Given the description of an element on the screen output the (x, y) to click on. 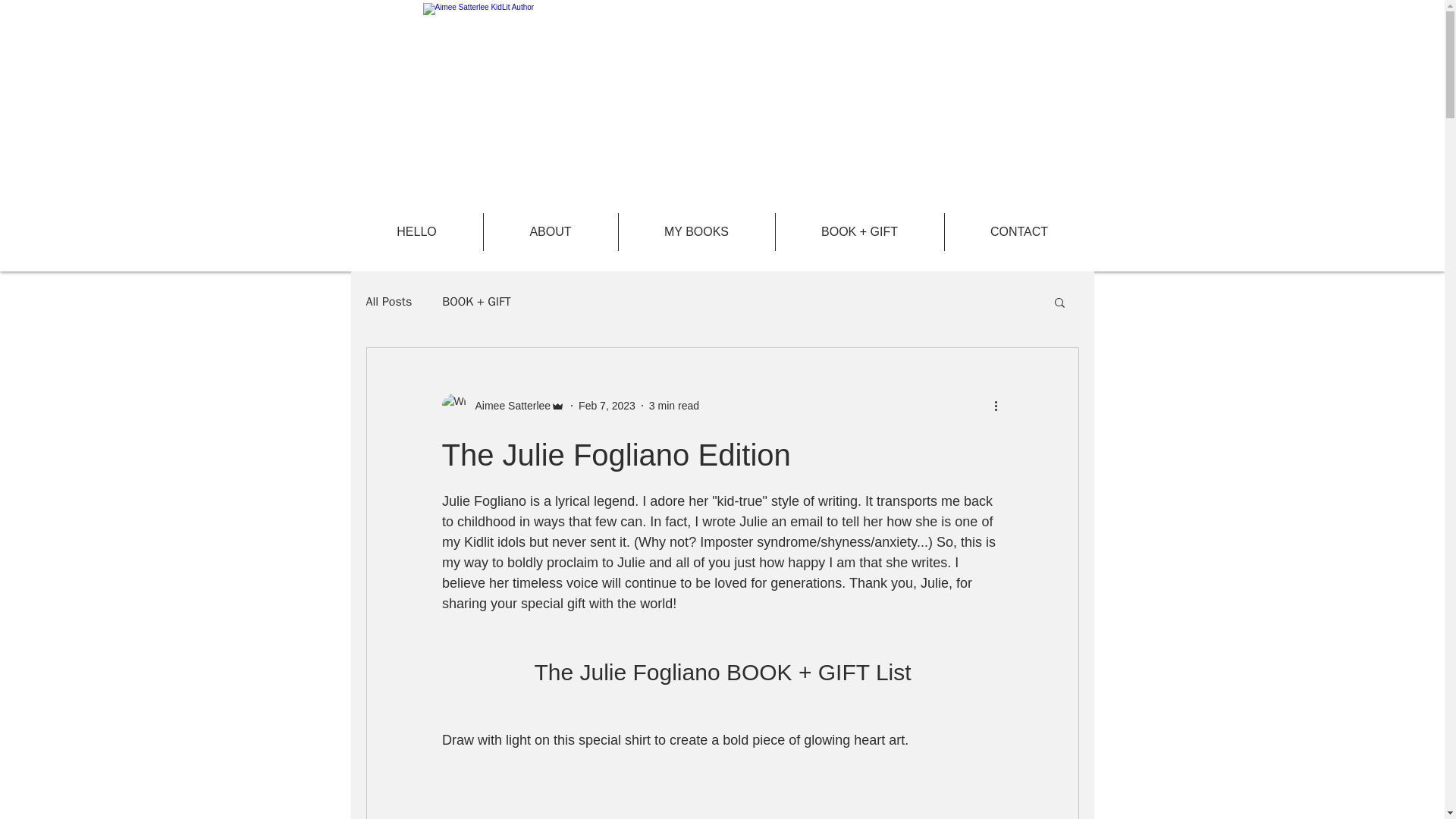
HELLO (415, 231)
Feb 7, 2023 (606, 404)
CONTACT (1019, 231)
ABOUT (550, 231)
MY BOOKS (696, 231)
Aimee Satterlee (507, 405)
All Posts (388, 302)
3 min read (673, 404)
